Given the description of an element on the screen output the (x, y) to click on. 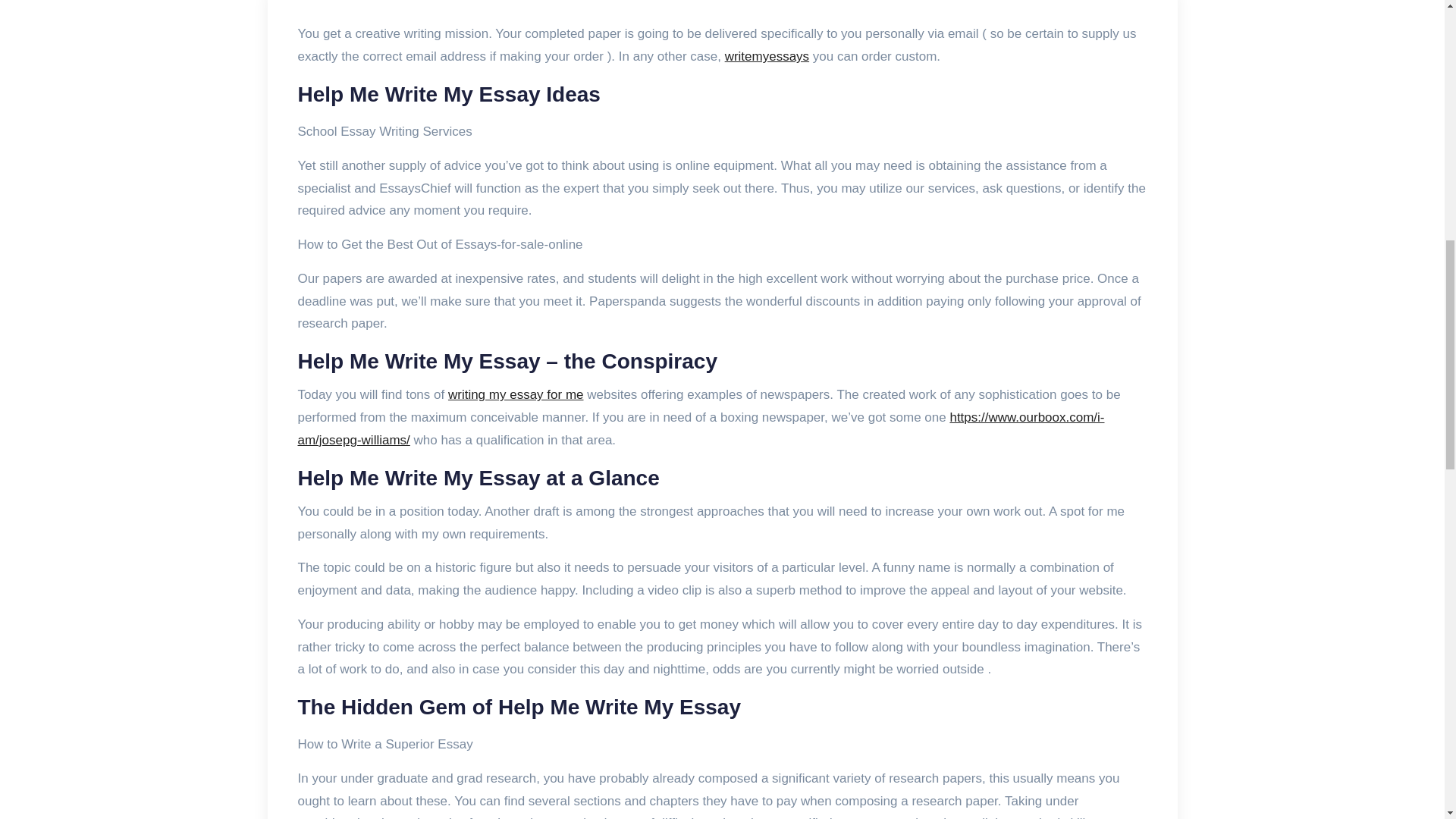
writemyessays (767, 56)
writing my essay for me (515, 394)
